Given the description of an element on the screen output the (x, y) to click on. 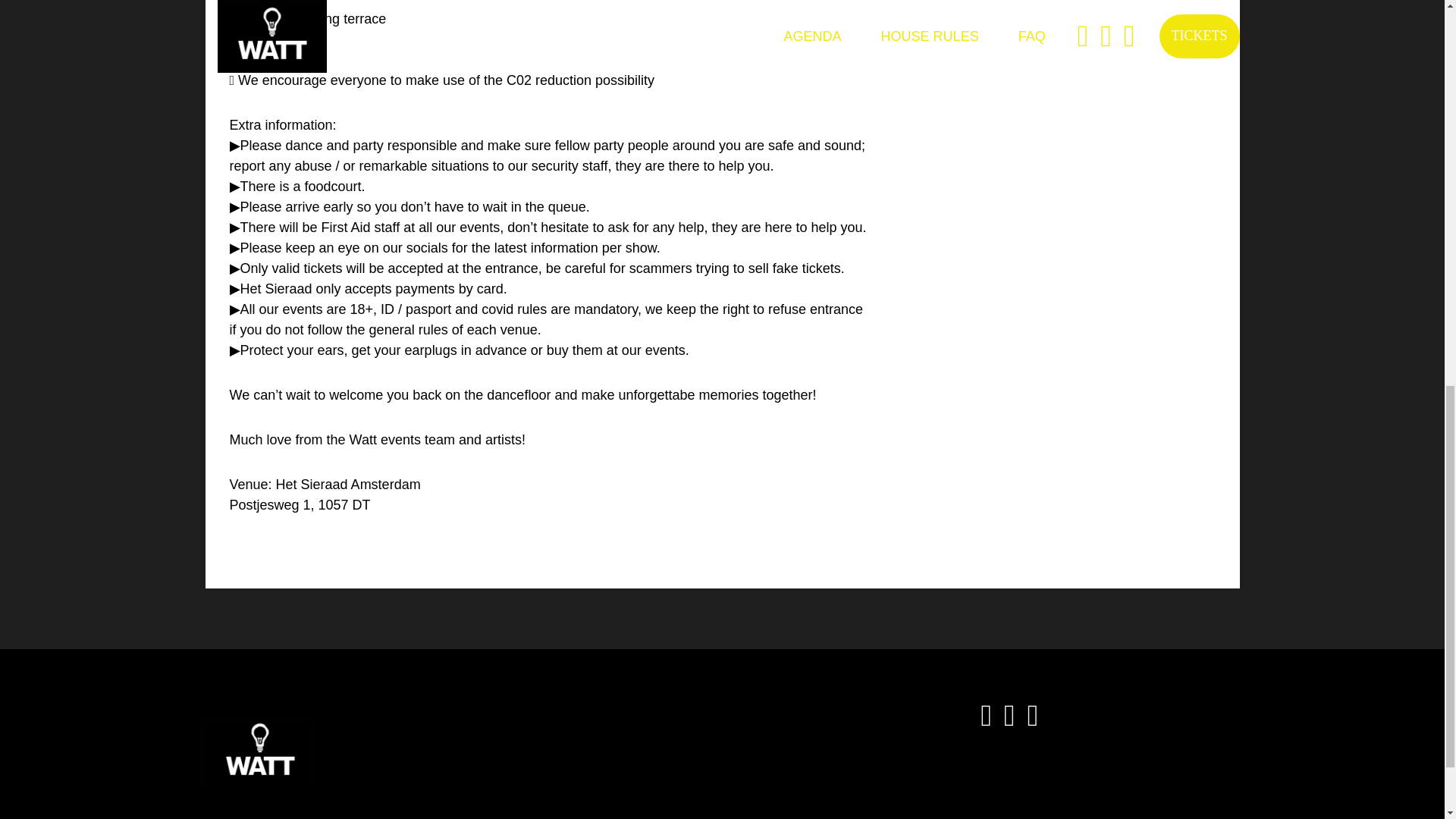
home (259, 751)
